Given the description of an element on the screen output the (x, y) to click on. 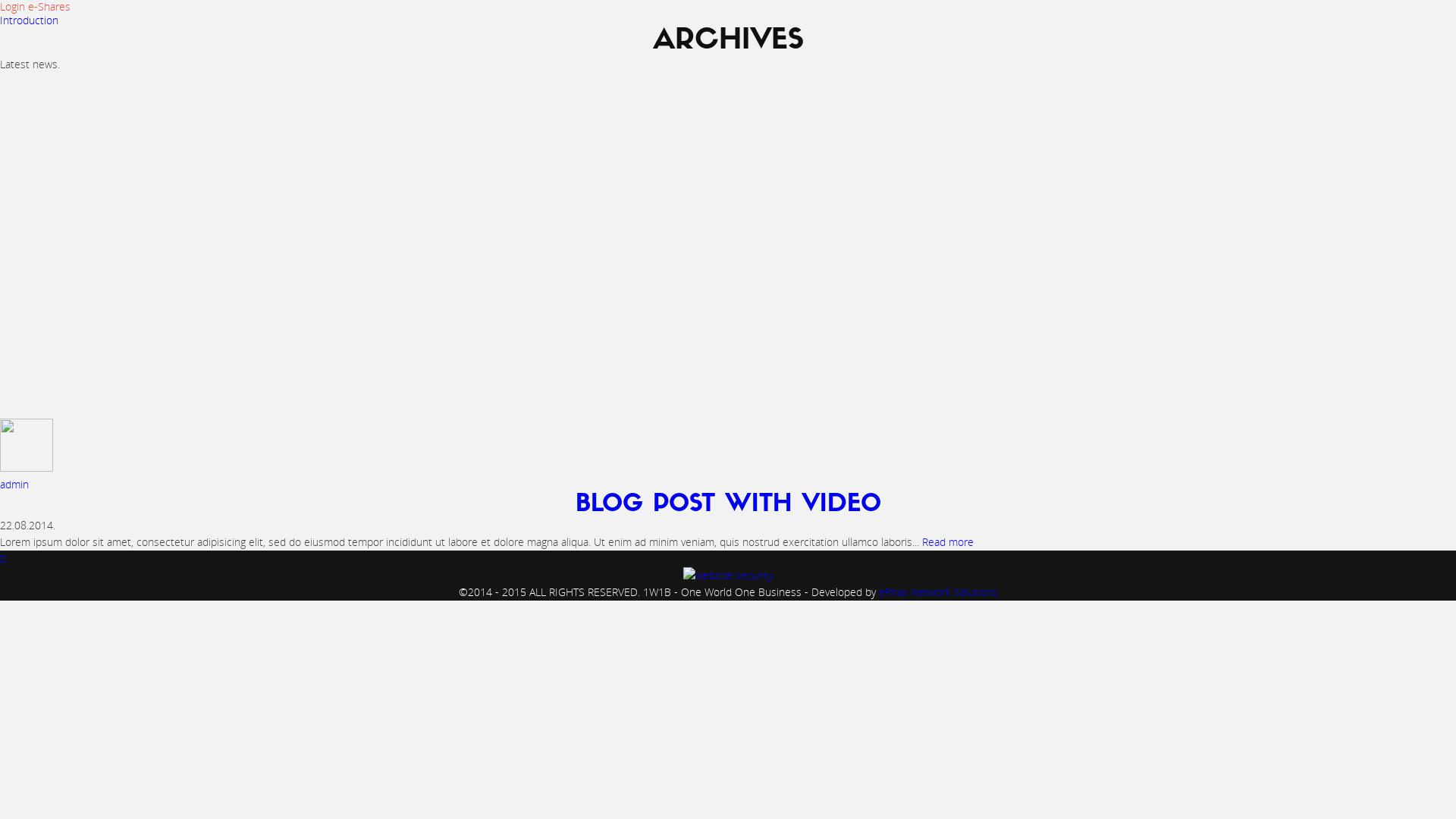
BLOG POST WITH VIDEO Element type: text (727, 504)
Read more Element type: text (947, 541)
SiteLock Element type: hover (727, 575)
admin Element type: text (14, 483)
ePhas Network Solutions Element type: text (937, 591)
Introduction Element type: text (29, 19)
